Given the description of an element on the screen output the (x, y) to click on. 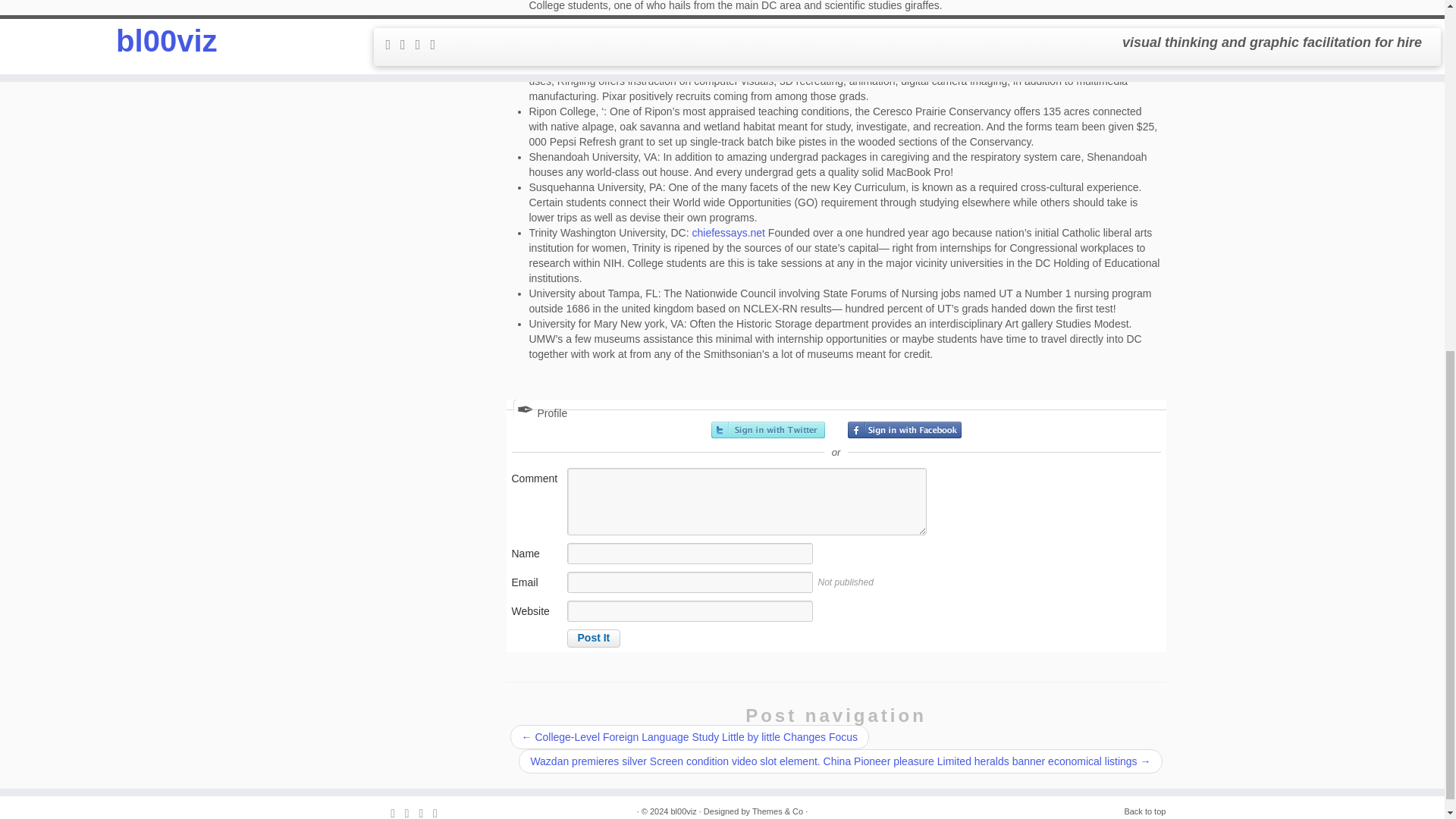
bl00viz (682, 810)
Back to top (1145, 810)
Sign in with Facebook (903, 429)
Post It (594, 638)
Sign in with Twitter (768, 429)
chiefessays.net (728, 232)
Post It (594, 638)
